Given the description of an element on the screen output the (x, y) to click on. 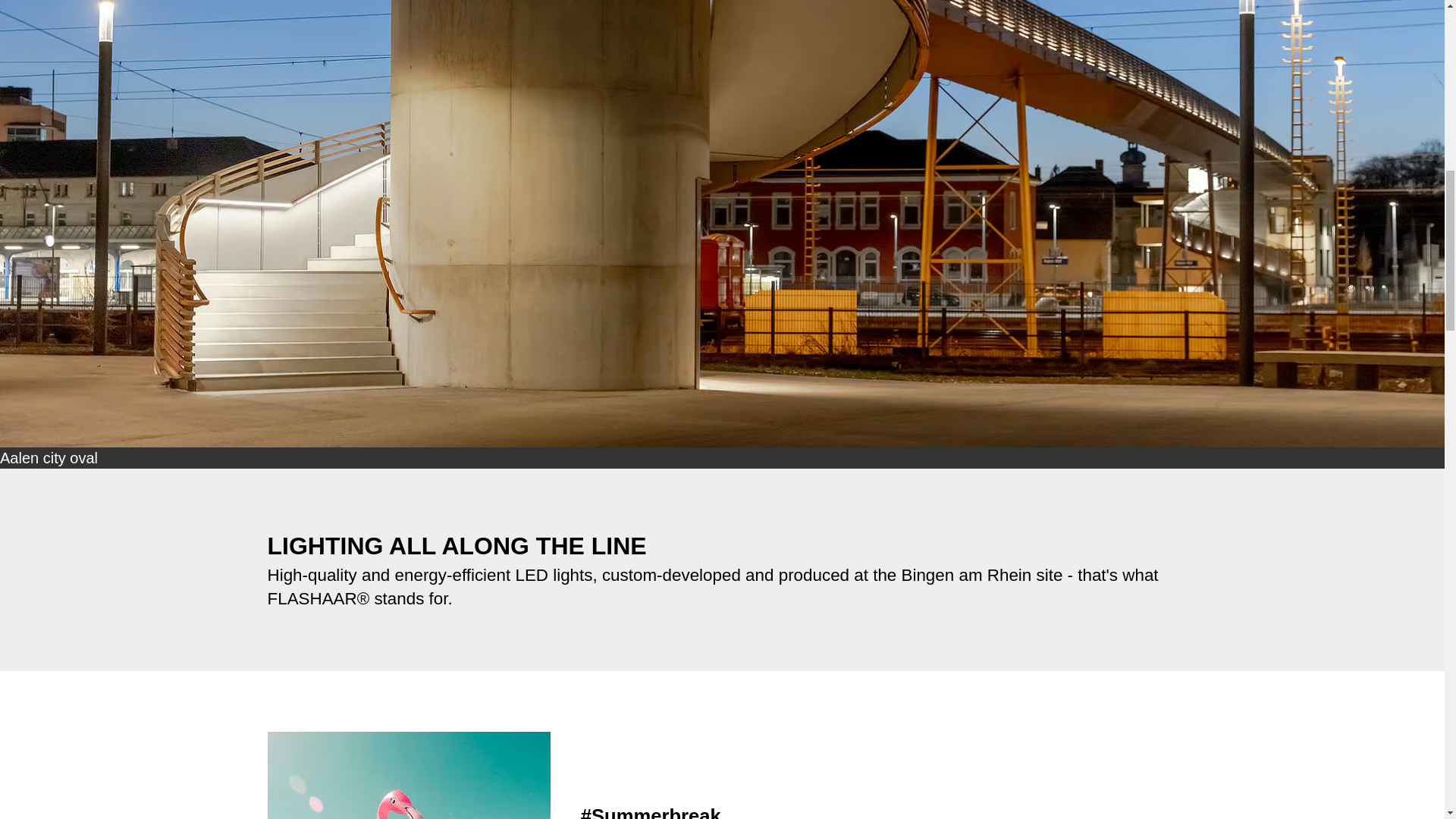
Home 7 (408, 775)
